Given the description of an element on the screen output the (x, y) to click on. 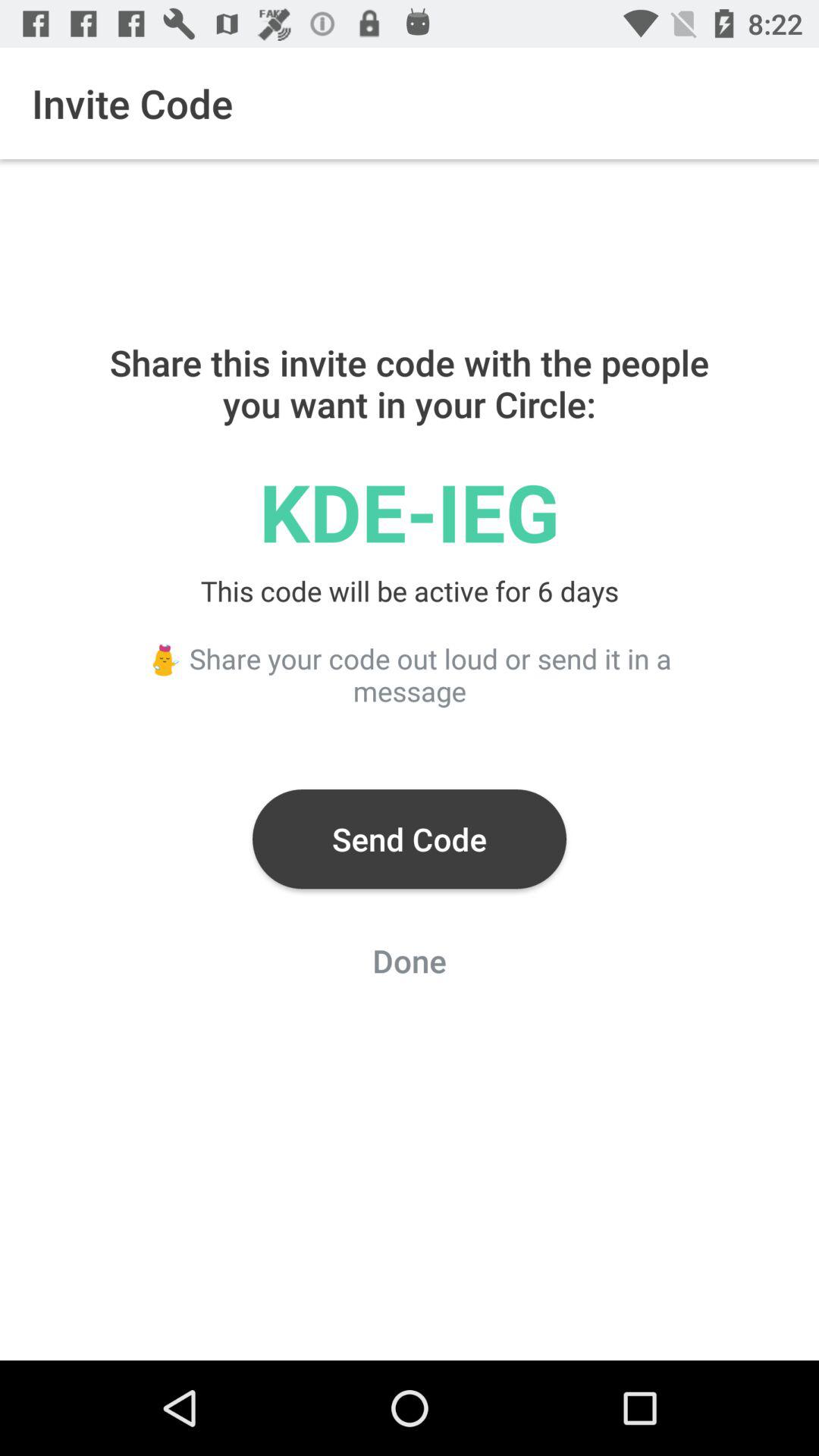
turn on done item (409, 965)
